Given the description of an element on the screen output the (x, y) to click on. 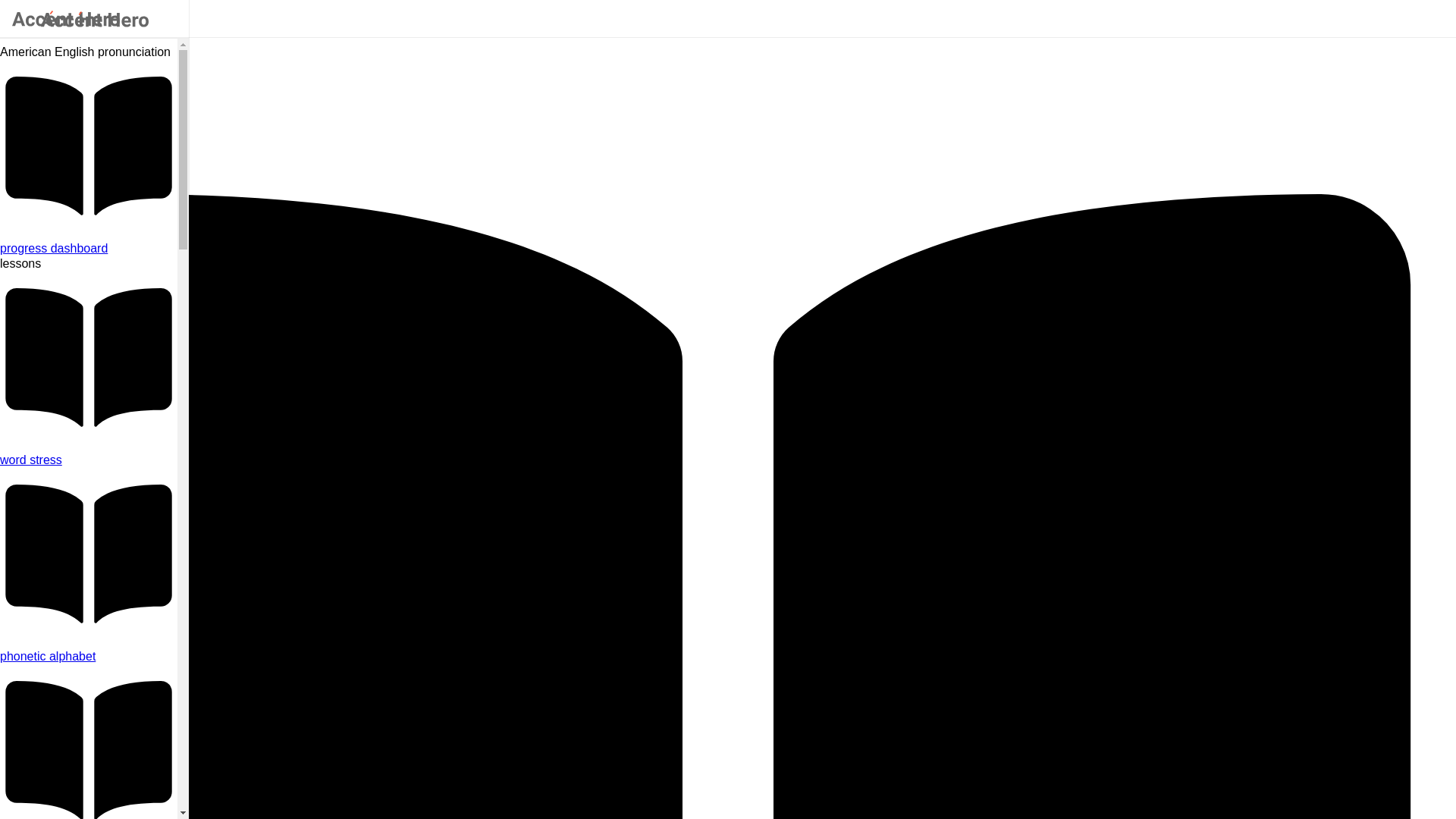
Learn how word stress influences your accent (88, 459)
Learn to precisely articulate each sound (88, 656)
